Given the description of an element on the screen output the (x, y) to click on. 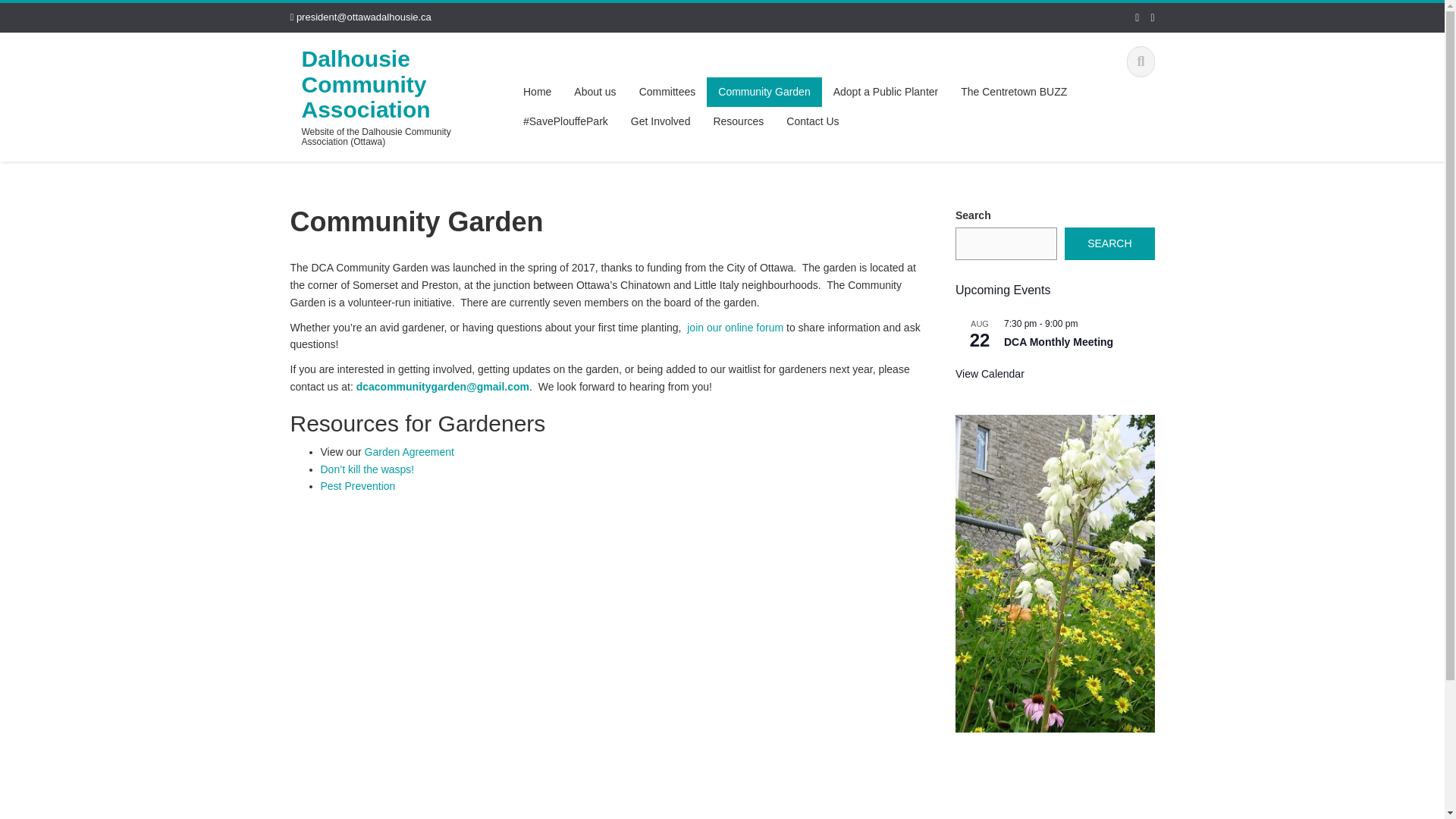
Dalhousie Community Association (365, 83)
DCA Monthly Meeting (1058, 341)
Pest Prevention (357, 485)
Resources (737, 121)
View Calendar (990, 373)
Dalhousie Community Association (365, 83)
SEARCH (1109, 243)
Community Garden (763, 91)
DCA Monthly Meeting (1058, 341)
Home (537, 91)
Contact Us (812, 121)
Get Involved (660, 121)
Garden Agreement (409, 451)
Adopt a Public Planter (886, 91)
Committees (667, 91)
